Given the description of an element on the screen output the (x, y) to click on. 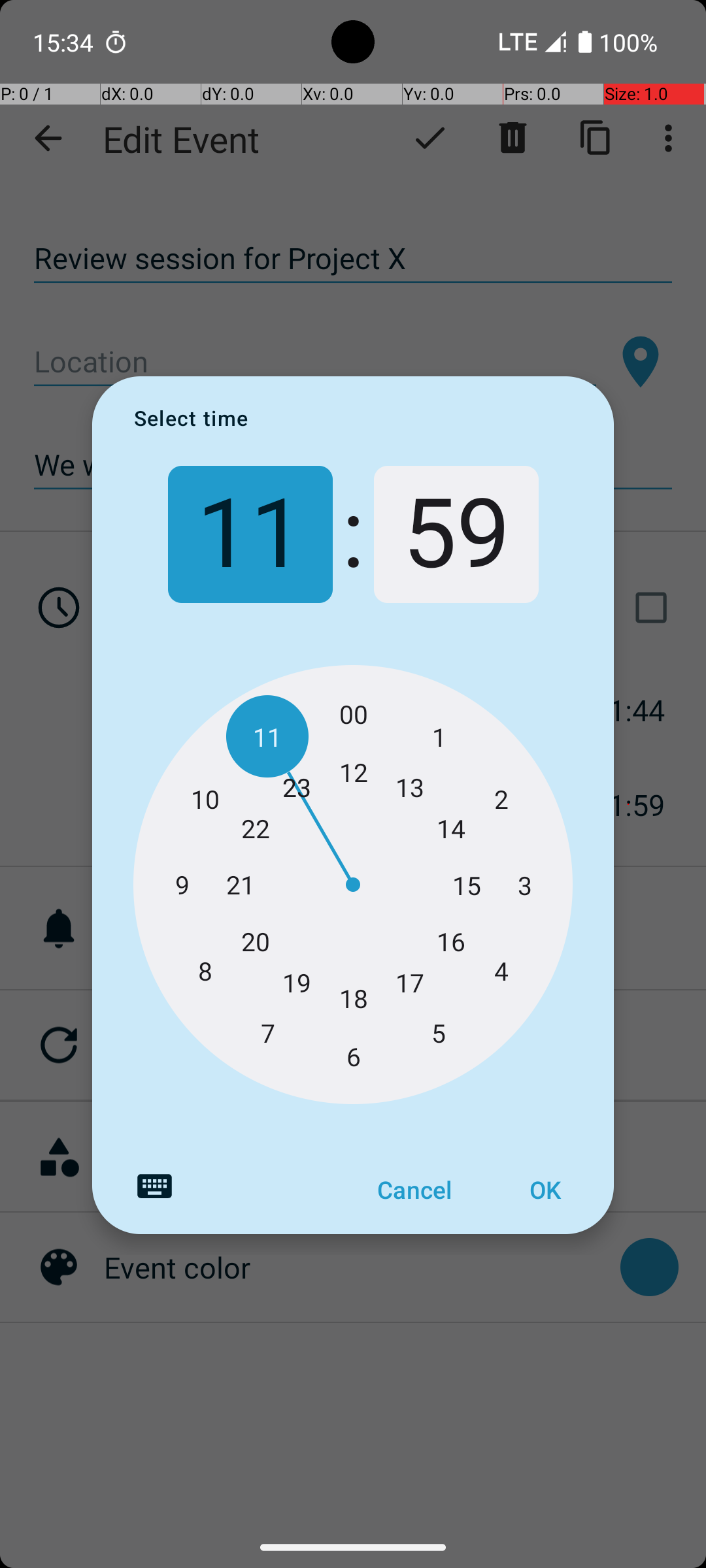
59 Element type: android.view.View (455, 534)
